Given the description of an element on the screen output the (x, y) to click on. 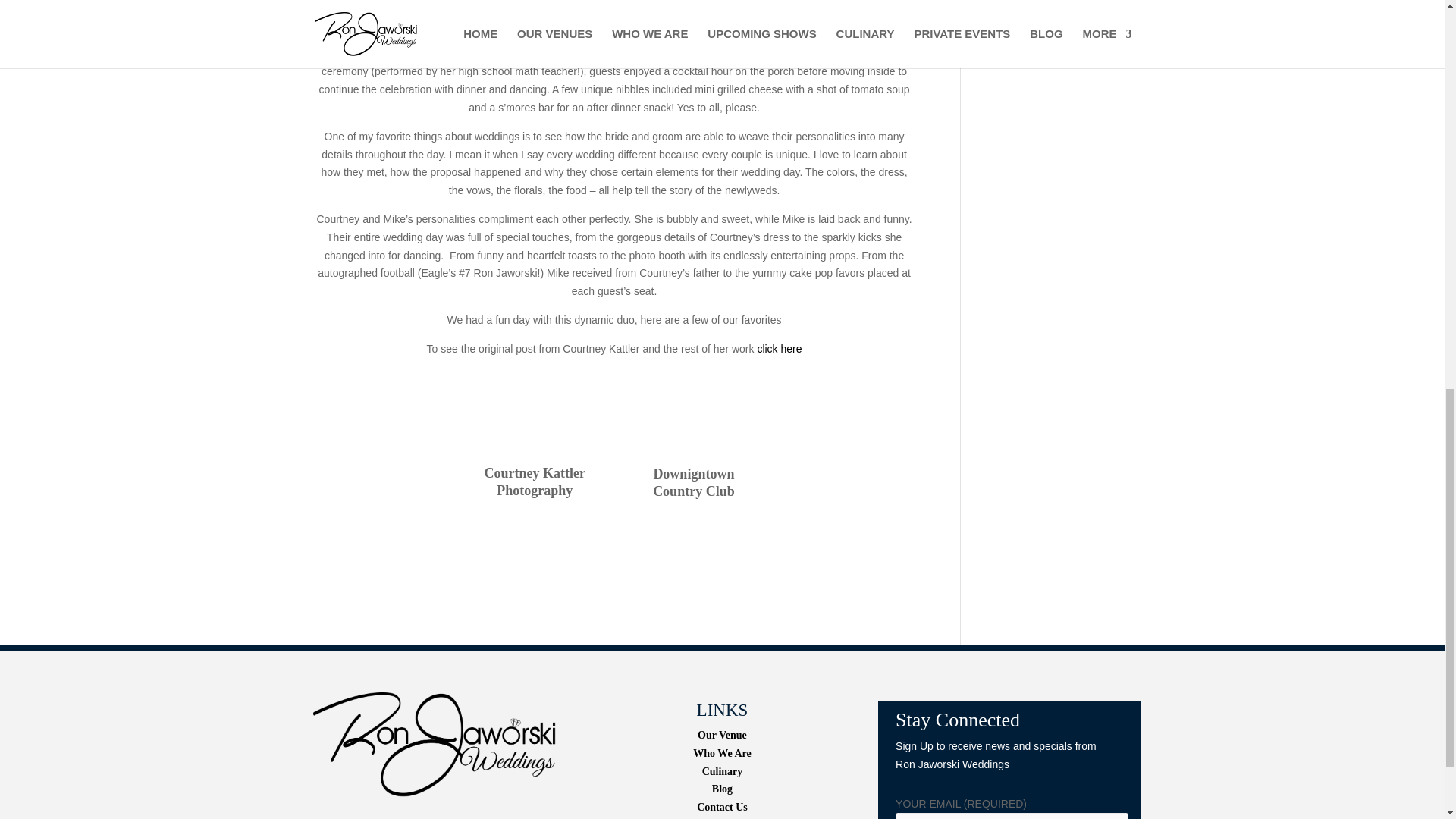
RJG Web Clickthrough (433, 815)
Our Venue (721, 735)
Contact Us (722, 807)
Who We Are (722, 753)
click here (779, 348)
Blog (721, 788)
Culinary (721, 771)
